Given the description of an element on the screen output the (x, y) to click on. 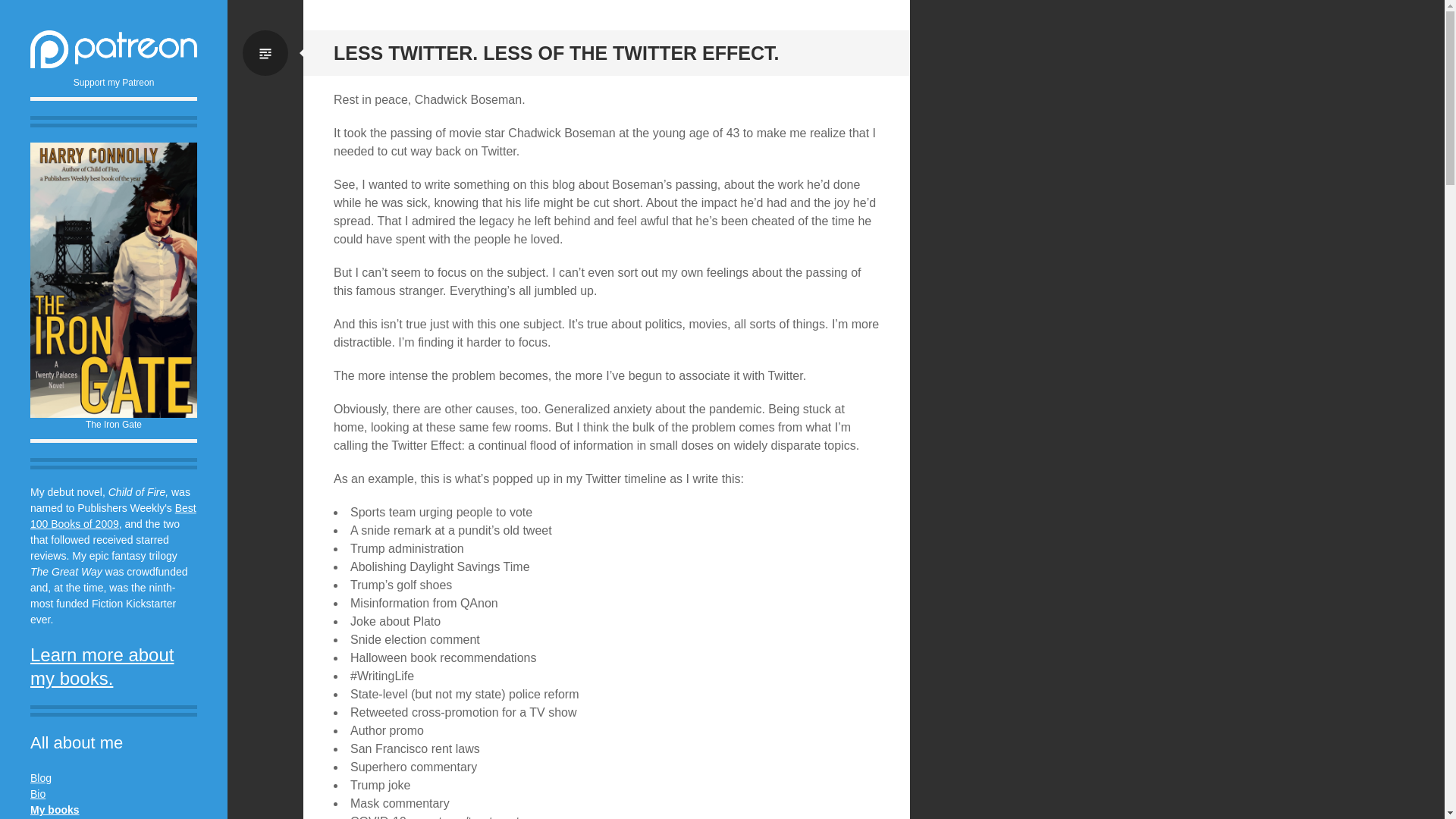
Blog (40, 777)
My books (55, 809)
Of a sort (37, 793)
Bio (37, 793)
Home page (55, 809)
Patreon White (113, 48)
Learn more about my books. (101, 666)
Best 100 Books of 2009 (113, 515)
